Given the description of an element on the screen output the (x, y) to click on. 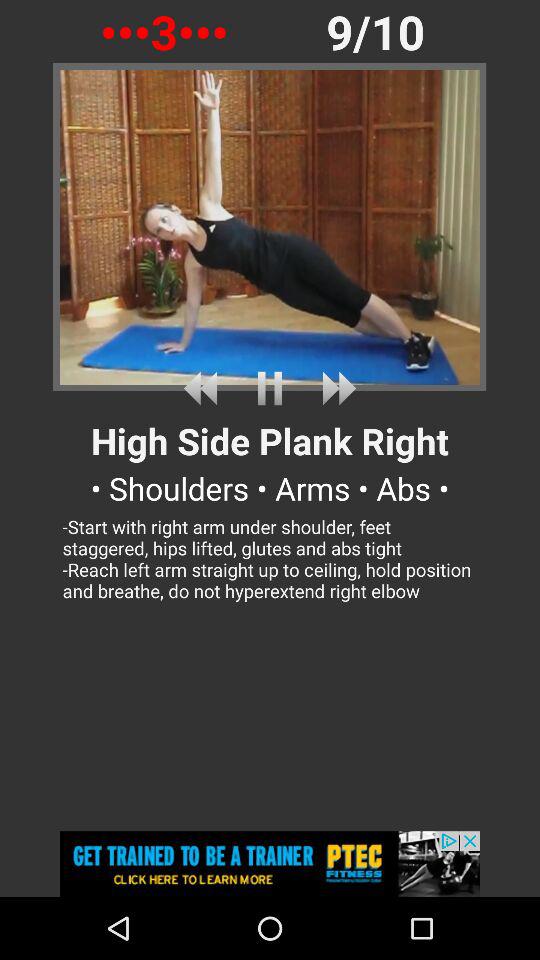
go to previous (204, 388)
